Given the description of an element on the screen output the (x, y) to click on. 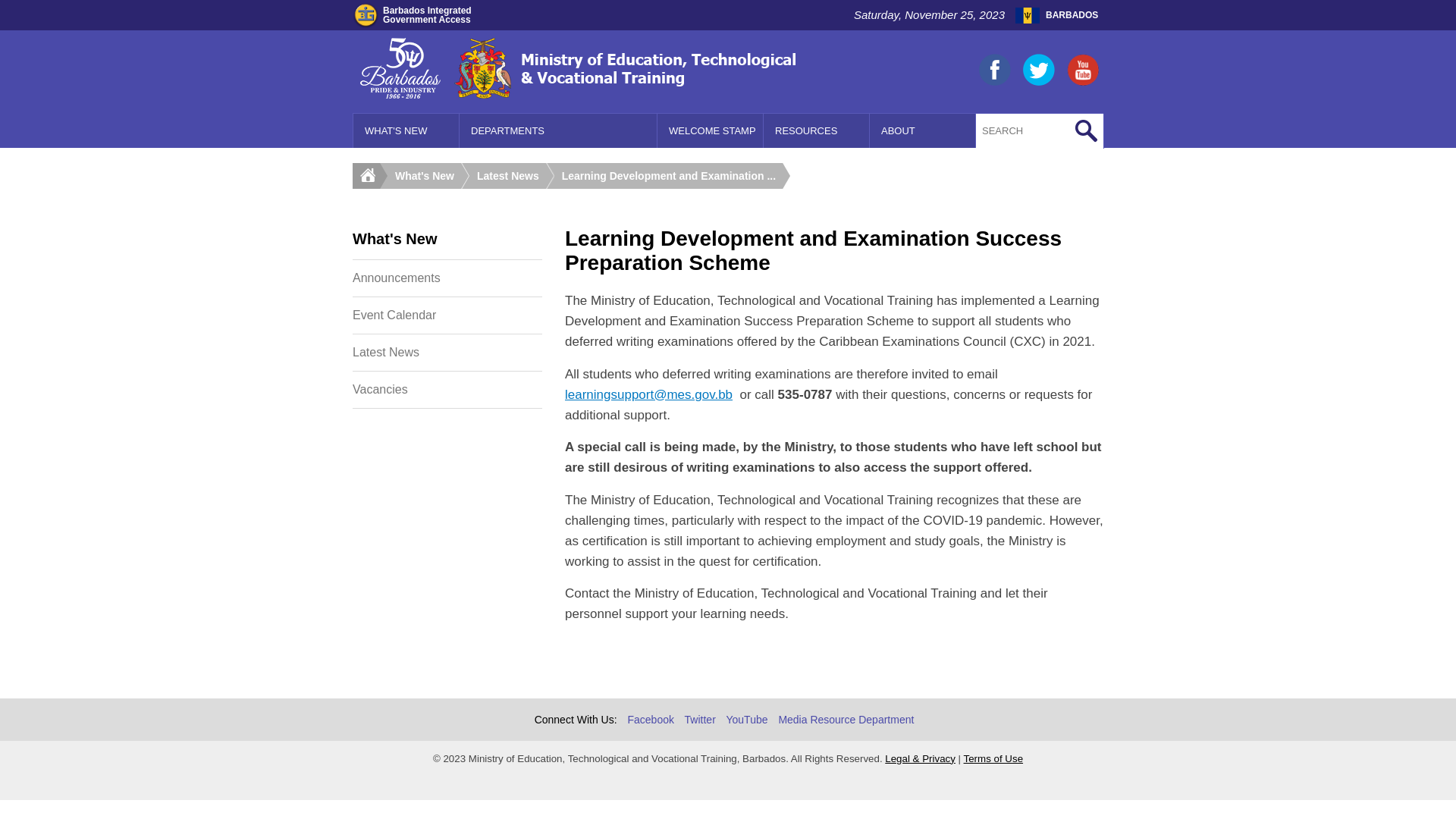
Event Calendar Element type: text (447, 315)
Vacancies Element type: text (447, 389)
Legal & Privacy Element type: text (919, 758)
Terms of Use Element type: text (993, 758)
What's New Element type: text (428, 175)
YouTube Element type: text (746, 719)
WHAT'S NEW Element type: text (406, 130)
Media Resource Department Element type: text (845, 719)
WELCOME STAMP Element type: text (710, 130)
Facebook Element type: text (650, 719)
Latest News Element type: text (447, 352)
DEPARTMENTS Element type: text (558, 130)
Announcements Element type: text (447, 278)
Latest News Element type: text (511, 175)
Learning Development and Examination ... Element type: text (672, 175)
learningsupport@mes.gov.bb Element type: text (648, 394)
RESOURCES Element type: text (816, 130)
Twitter Element type: text (699, 719)
ABOUT Element type: text (922, 130)
